Given the description of an element on the screen output the (x, y) to click on. 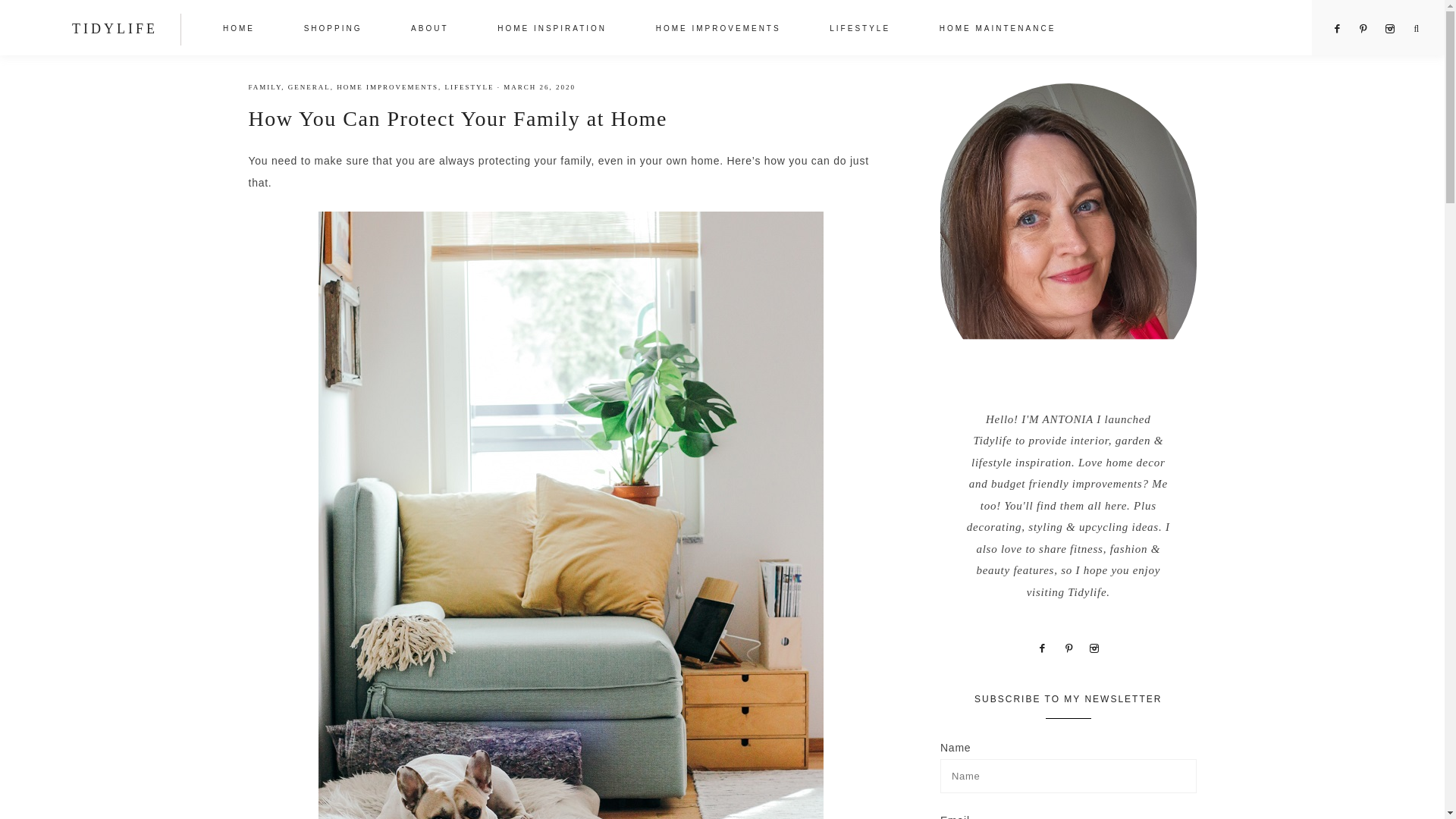
HOME INSPIRATION (551, 29)
Pinterest (1364, 29)
Instagram (1389, 29)
Instagram (1094, 647)
HOME IMPROVEMENTS (718, 29)
TIDYLIFE (114, 28)
GENERAL (309, 86)
Facebook (1042, 647)
FAMILY (265, 86)
